Given the description of an element on the screen output the (x, y) to click on. 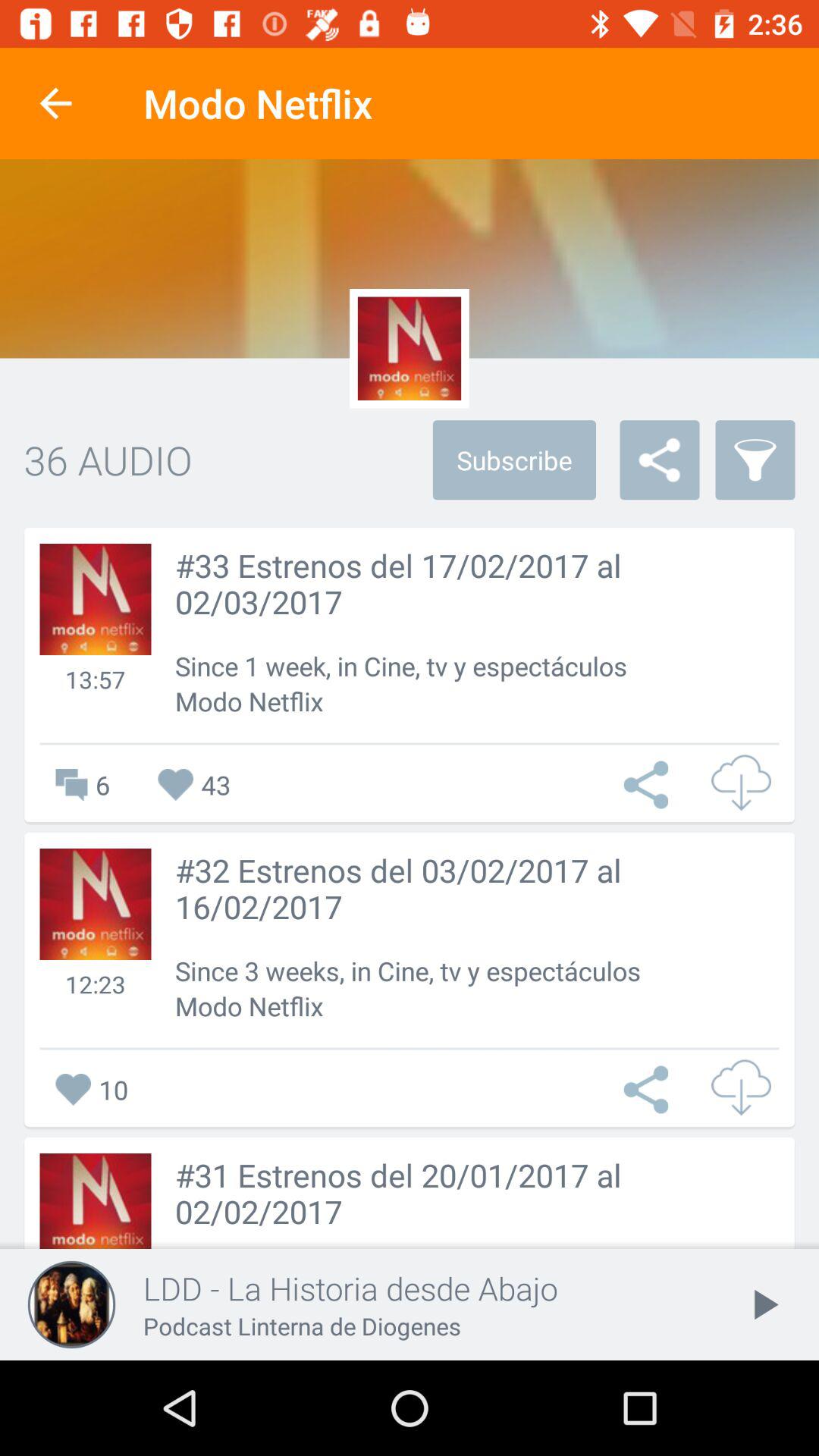
tap item to the right of the 6 icon (194, 784)
